Given the description of an element on the screen output the (x, y) to click on. 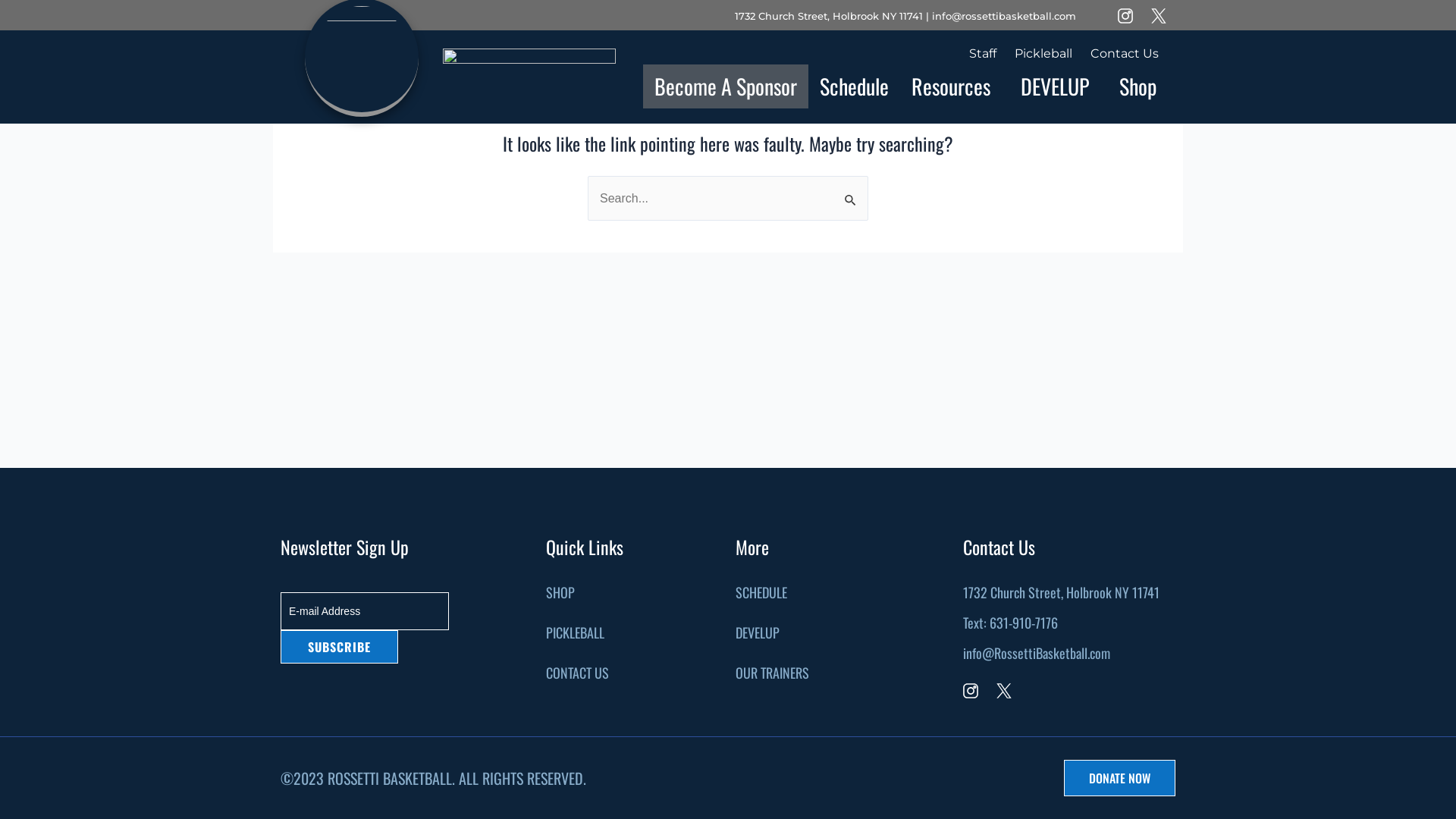
Become A Sponsor Element type: text (725, 86)
PICKLEBALL Element type: text (575, 632)
OUR TRAINERS Element type: text (772, 672)
DEVELUP Element type: text (1058, 86)
Shop Element type: text (1137, 86)
Contact Us Element type: text (1124, 53)
CONTACT US Element type: text (577, 672)
Schedule Element type: text (854, 86)
Search Element type: text (851, 191)
SCHEDULE Element type: text (761, 592)
Pickleball Element type: text (1043, 53)
DEVELUP Element type: text (757, 632)
Staff Element type: text (982, 53)
DONATE NOW Element type: text (1119, 777)
SHOP Element type: text (560, 592)
Resources Element type: text (954, 86)
info@RossettiBasketball.com Element type: text (1036, 652)
Subscribe Element type: text (339, 646)
